Given the description of an element on the screen output the (x, y) to click on. 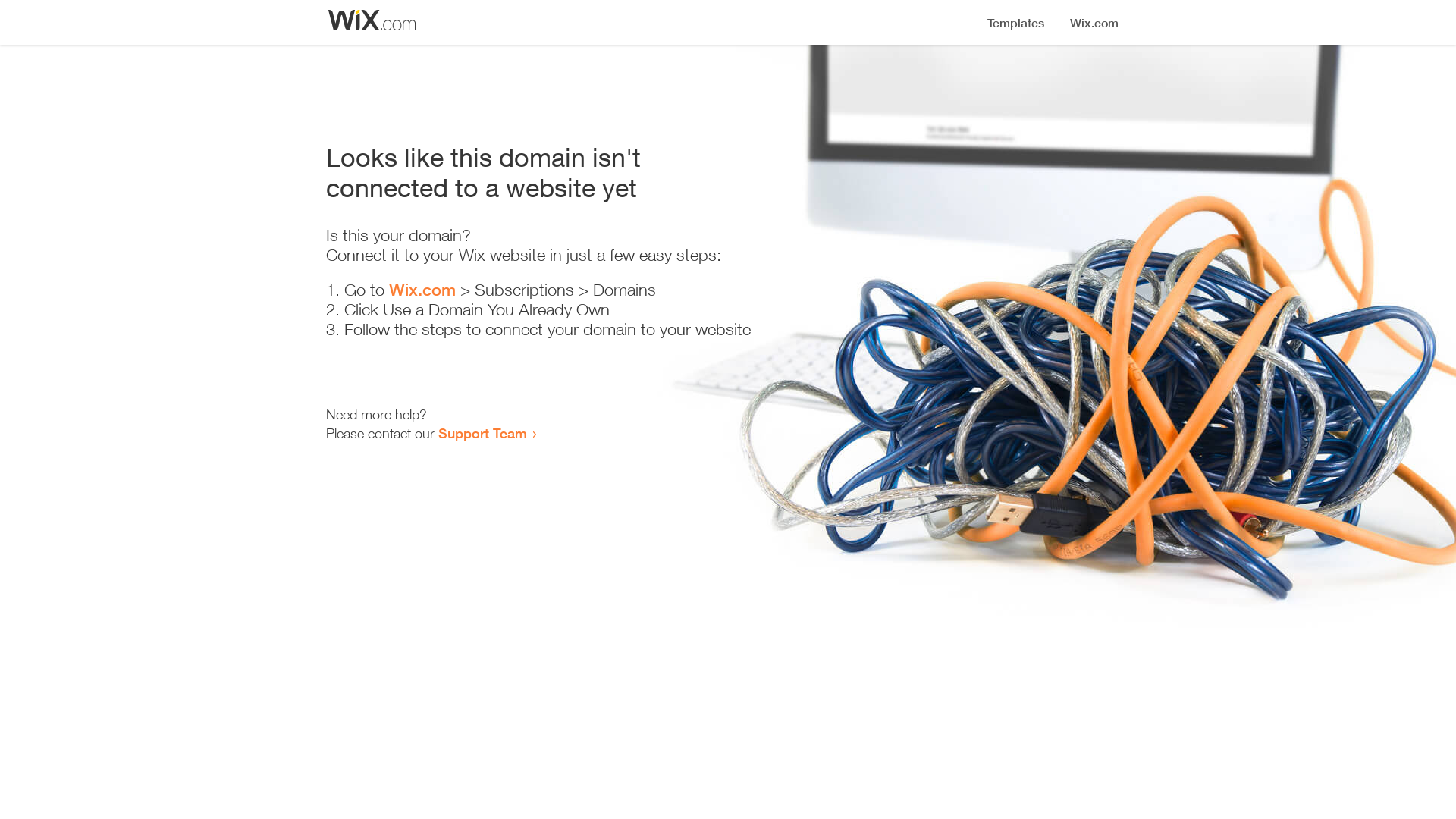
Wix.com Element type: text (422, 289)
Support Team Element type: text (482, 432)
